Given the description of an element on the screen output the (x, y) to click on. 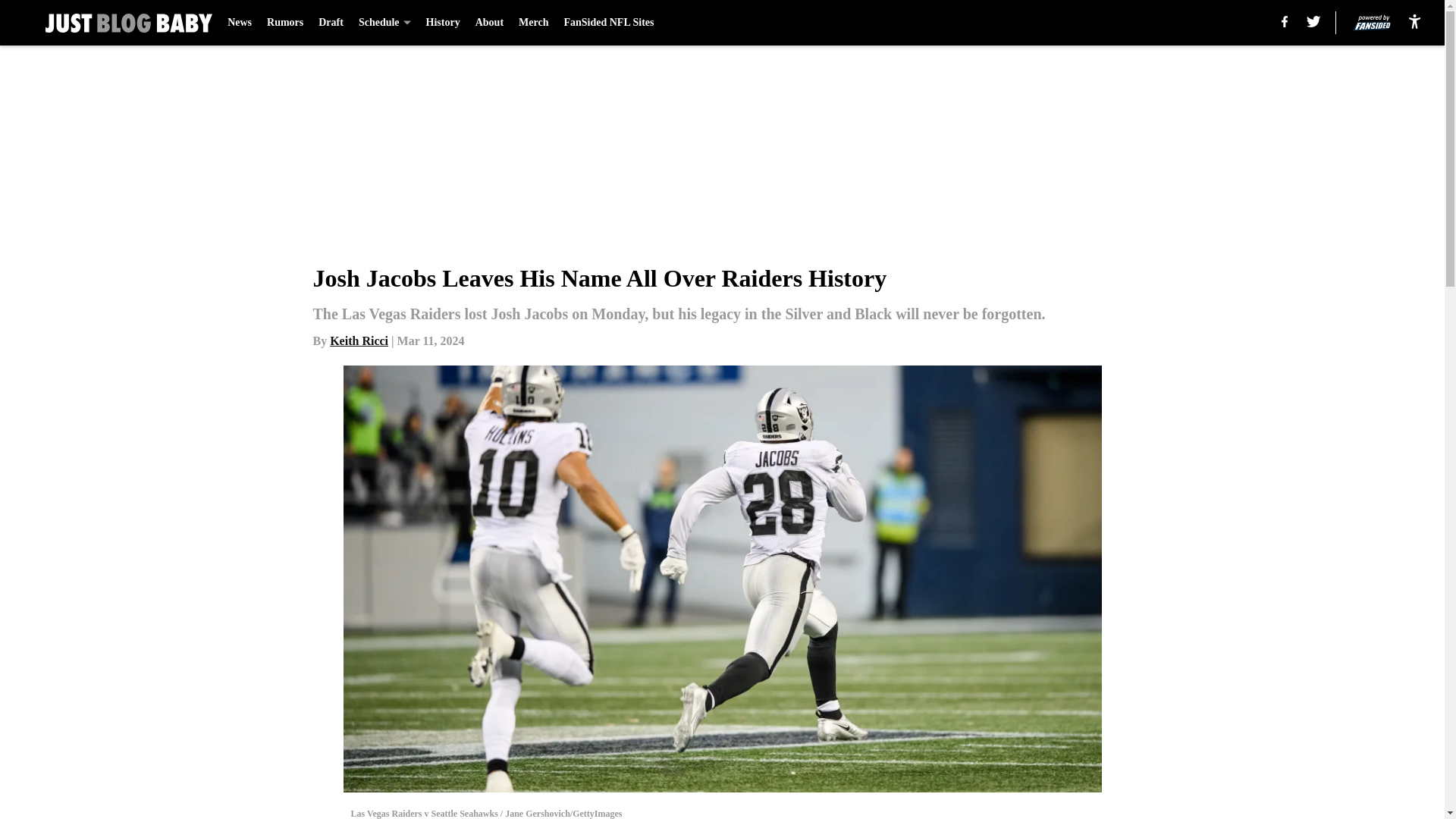
Keith Ricci (359, 340)
Merch (533, 22)
About (489, 22)
Draft (330, 22)
Rumors (284, 22)
FanSided NFL Sites (608, 22)
History (443, 22)
News (239, 22)
